Given the description of an element on the screen output the (x, y) to click on. 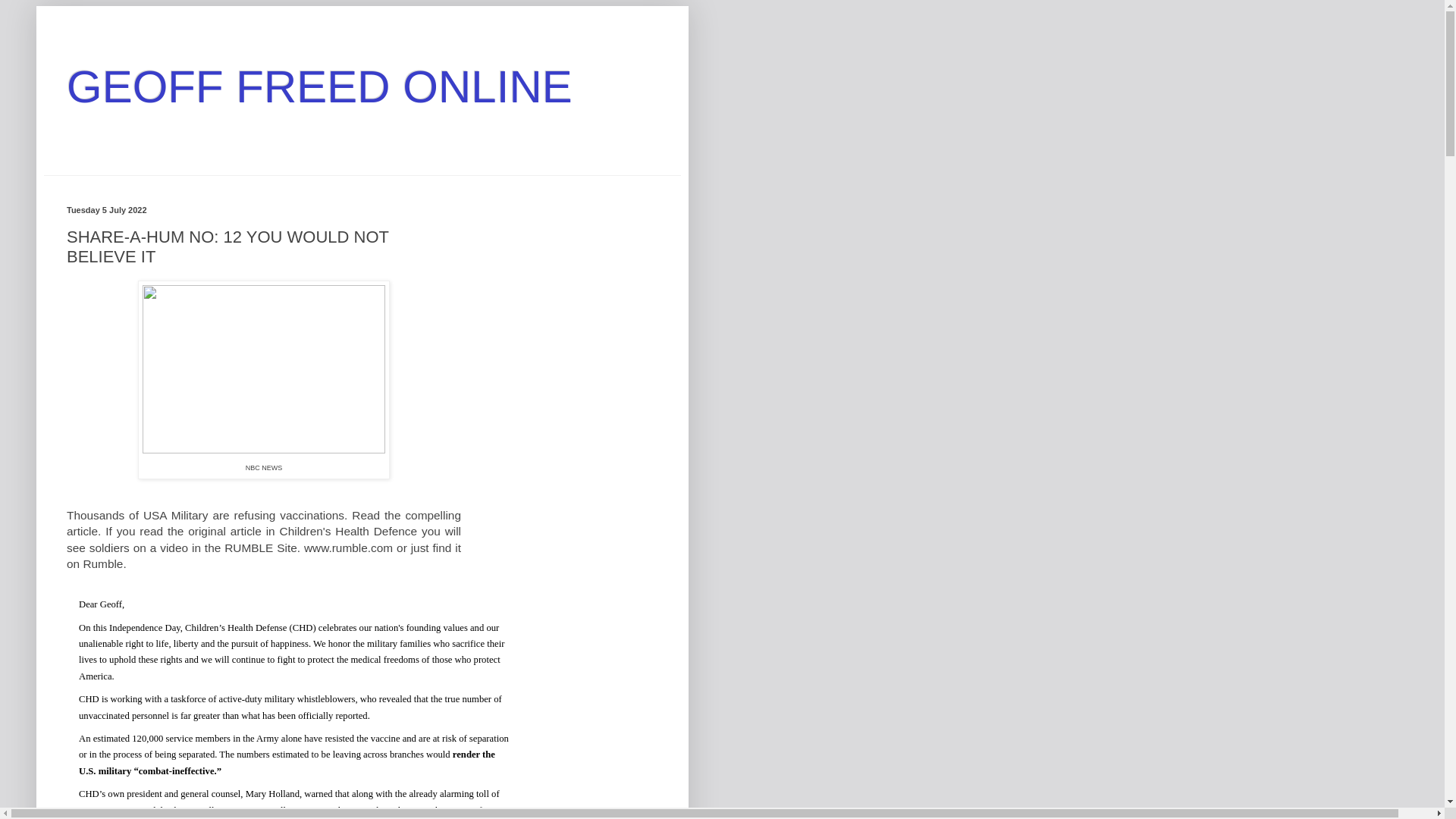
GEOFF FREED ONLINE (319, 86)
